Given the description of an element on the screen output the (x, y) to click on. 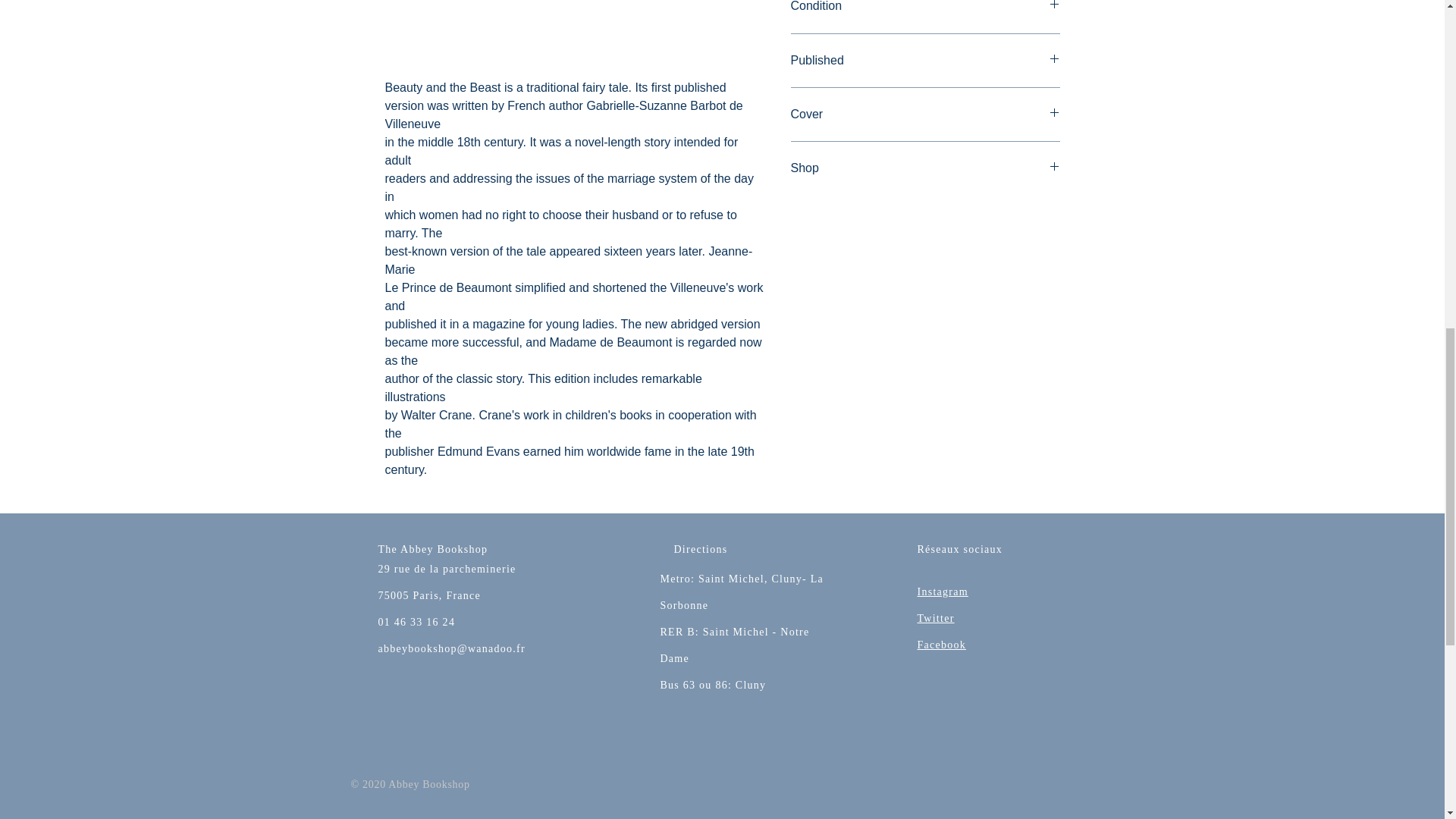
Bus 63 ou 86: Cluny (712, 685)
Facebook (941, 644)
Metro: Saint Michel, Cluny- La Sorbonne (741, 591)
Instagram (942, 591)
Shop (924, 167)
Condition (924, 7)
Twitter (936, 617)
Published (924, 60)
Cover (924, 114)
RER B: Saint Michel - Notre Dame  (734, 645)
